Given the description of an element on the screen output the (x, y) to click on. 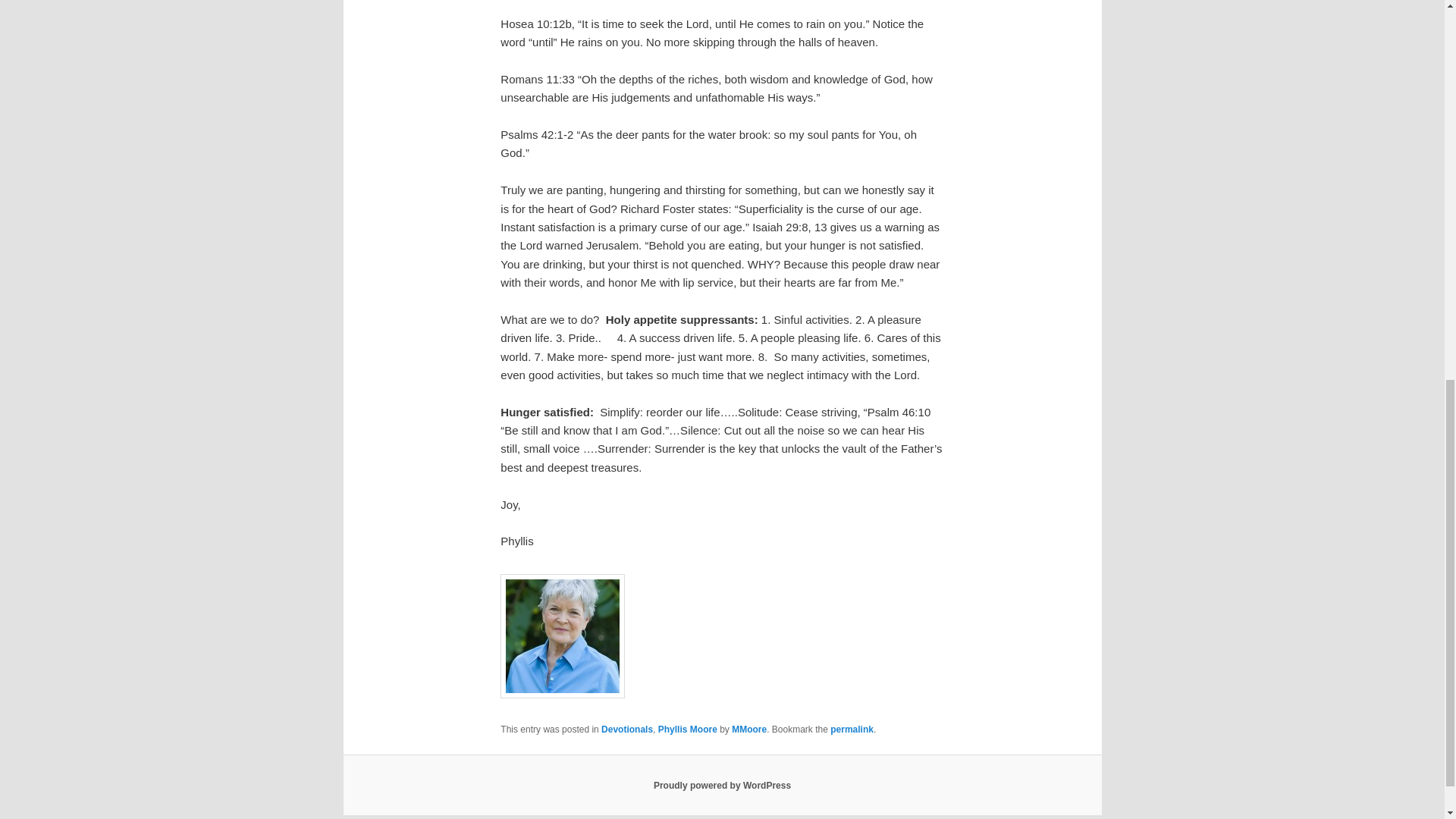
Proudly powered by WordPress (721, 785)
MMoore (749, 728)
permalink (851, 728)
Semantic Personal Publishing Platform (721, 785)
Permalink to HUNGERING AFTER THE HEART OF GOD! (851, 728)
Devotionals (626, 728)
Phyllis Moore (687, 728)
